Given the description of an element on the screen output the (x, y) to click on. 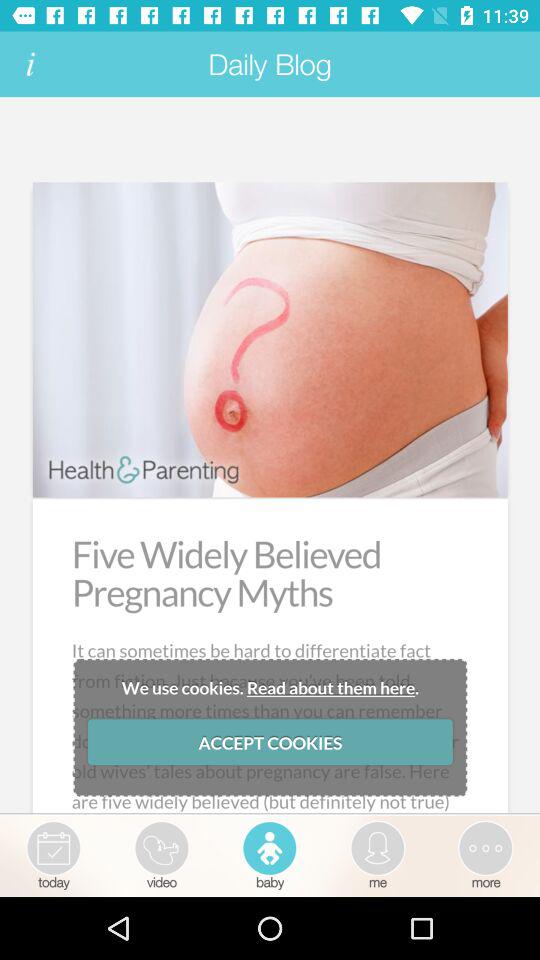
get more information (30, 63)
